Given the description of an element on the screen output the (x, y) to click on. 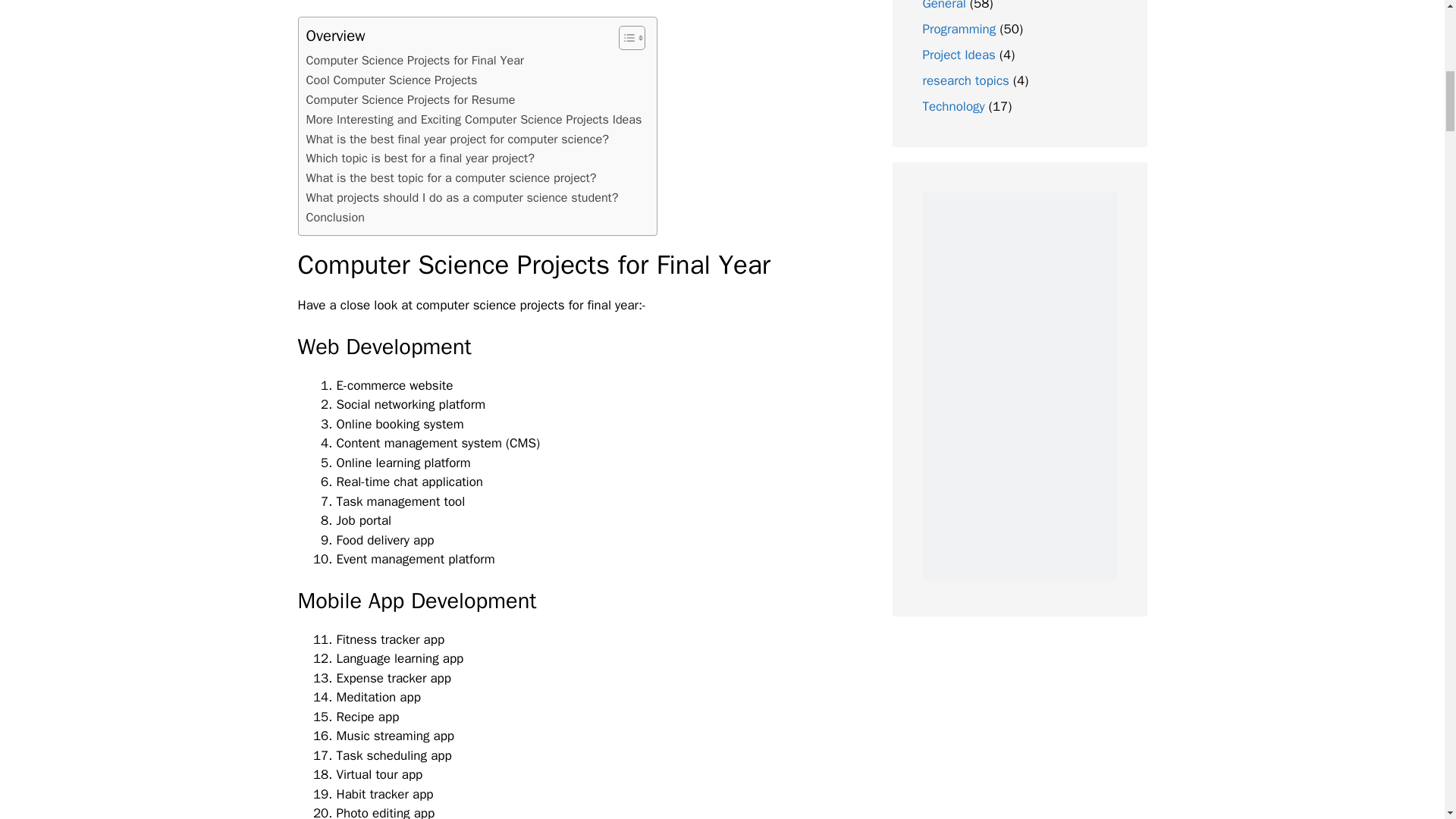
Which topic is best for a final year project? (419, 158)
What is the best topic for a computer science project? (450, 178)
What projects should I do as a computer science student? (461, 198)
Computer Science Projects for Final Year (414, 60)
What projects should I do as a computer science student? (461, 198)
Computer Science Projects for Resume (410, 99)
Cool Computer Science Projects (391, 80)
Computer Science Projects for Final Year (414, 60)
What is the best final year project for computer science? (456, 139)
Conclusion (335, 217)
Conclusion (335, 217)
Scroll back to top (1406, 720)
What is the best final year project for computer science? (456, 139)
